Given the description of an element on the screen output the (x, y) to click on. 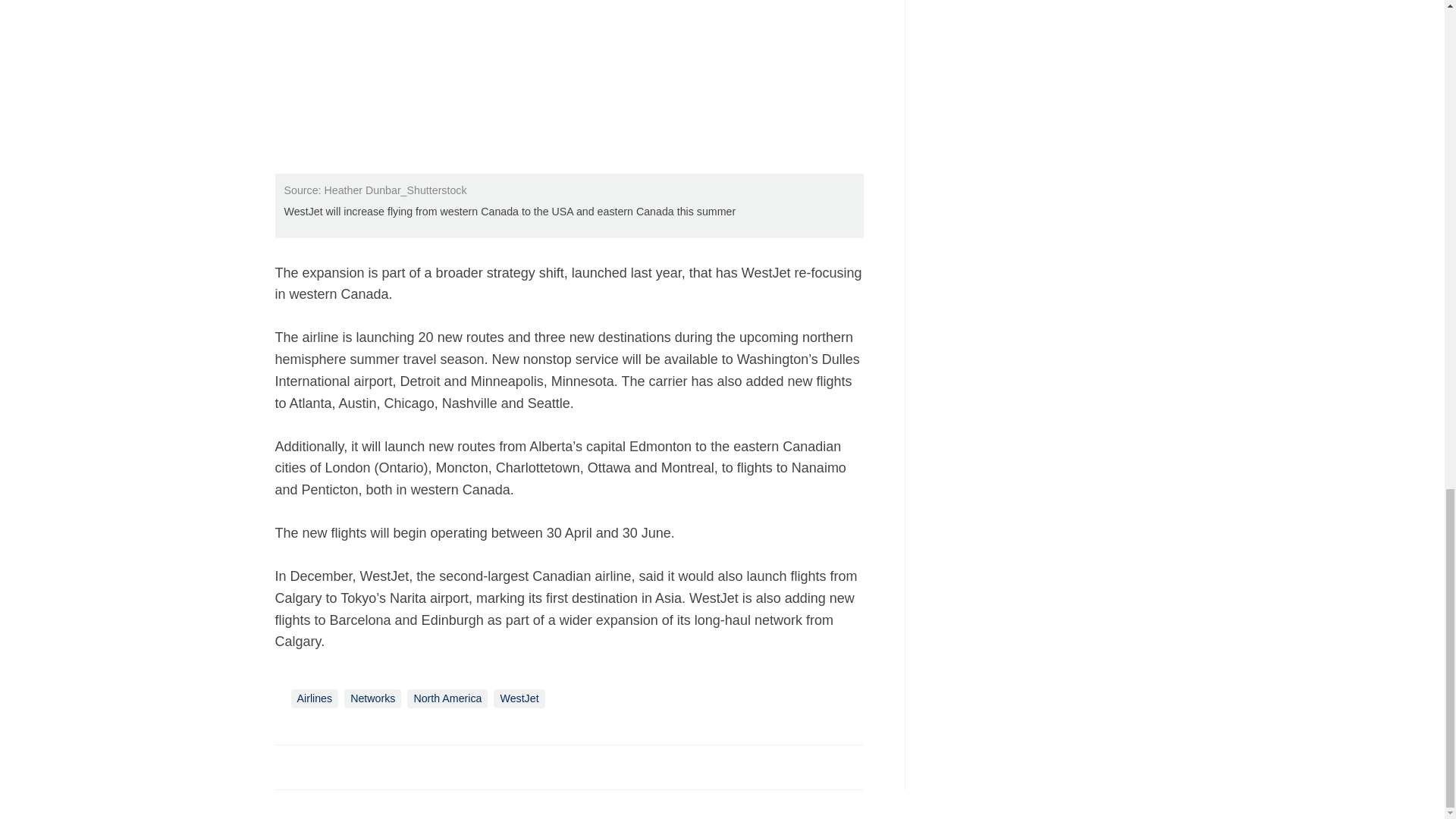
Email this article (386, 766)
Share this on Twitter (320, 766)
Share this on Facebook (288, 766)
Share this on Linked in (352, 766)
